Given the description of an element on the screen output the (x, y) to click on. 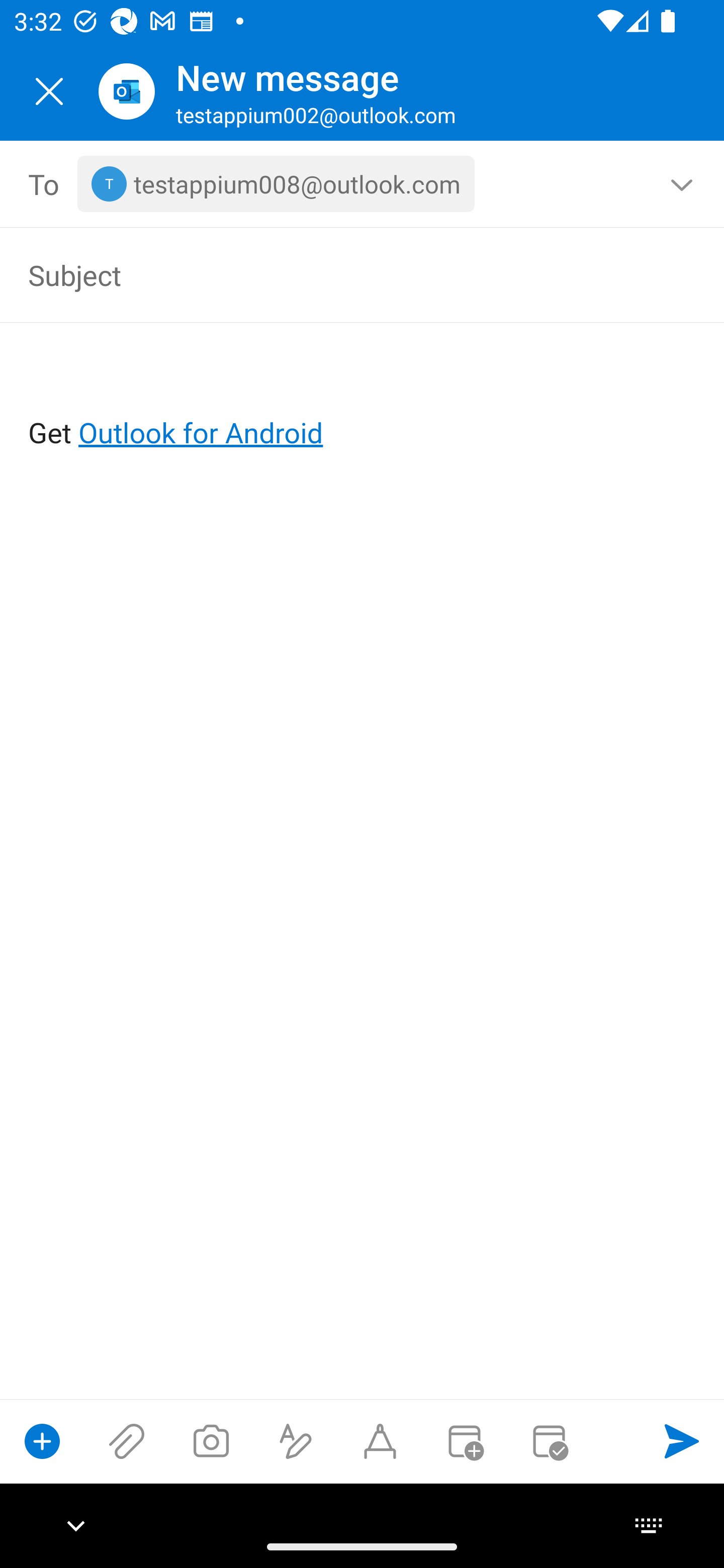
Close (49, 91)
To, 1 recipient <testappium008@outlook.com> (362, 184)
Subject (333, 274)


Get Outlook for Android (363, 400)
Show compose options (42, 1440)
Attach files (126, 1440)
Take a photo (210, 1440)
Show formatting options (295, 1440)
Start Ink compose (380, 1440)
Convert to event (464, 1440)
Send availability (548, 1440)
Send (681, 1440)
